Given the description of an element on the screen output the (x, y) to click on. 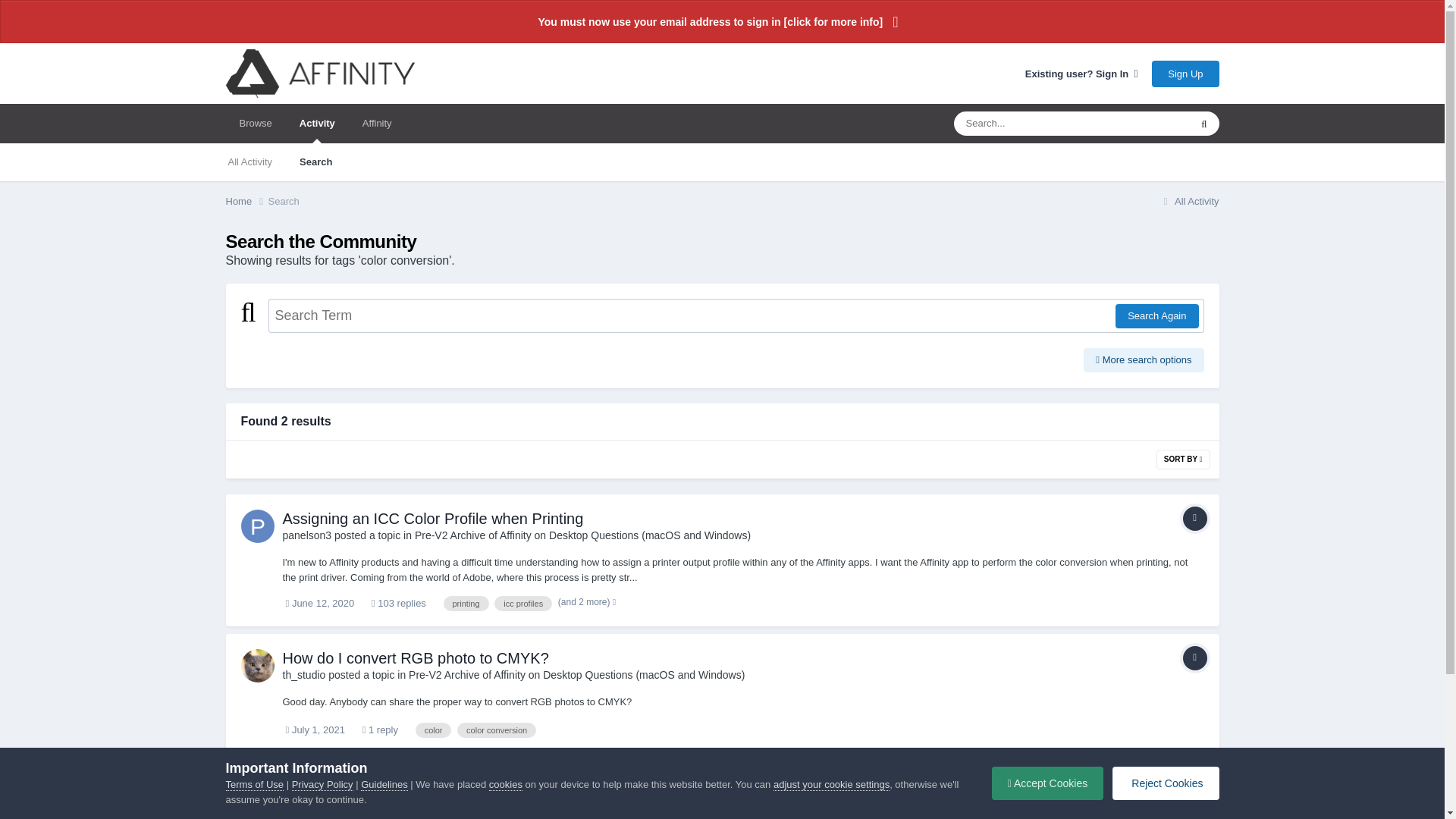
Find other content tagged with 'color conversion' (496, 729)
Topic (1194, 518)
Home (246, 201)
Search Again (1156, 315)
Find other content tagged with 'color' (432, 729)
All Activity (1188, 201)
Search (283, 201)
More search options (1143, 360)
Sign Up (1184, 73)
Search (315, 161)
